Given the description of an element on the screen output the (x, y) to click on. 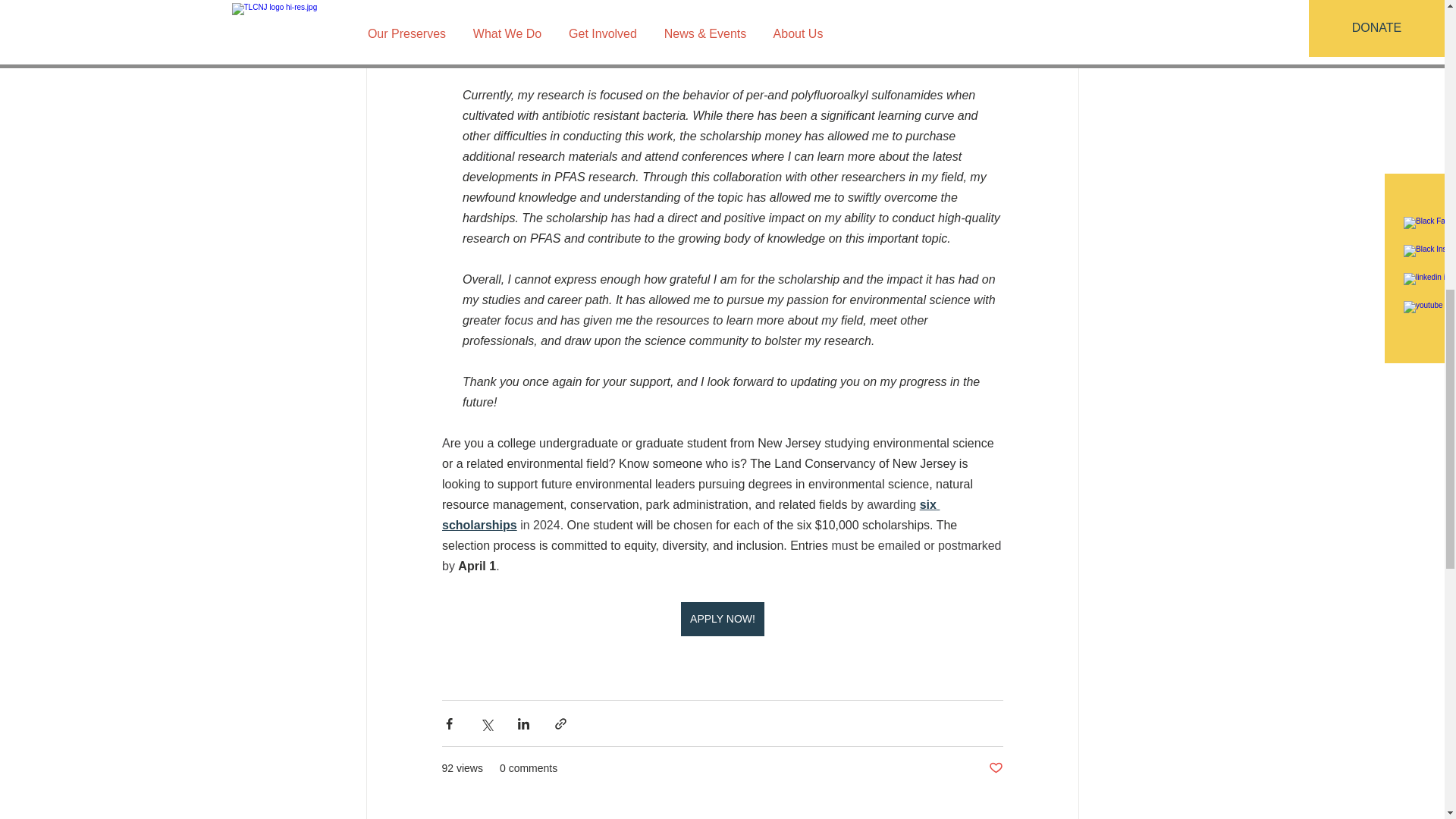
six scholarships (690, 514)
APPLY NOW! (722, 618)
